Given the description of an element on the screen output the (x, y) to click on. 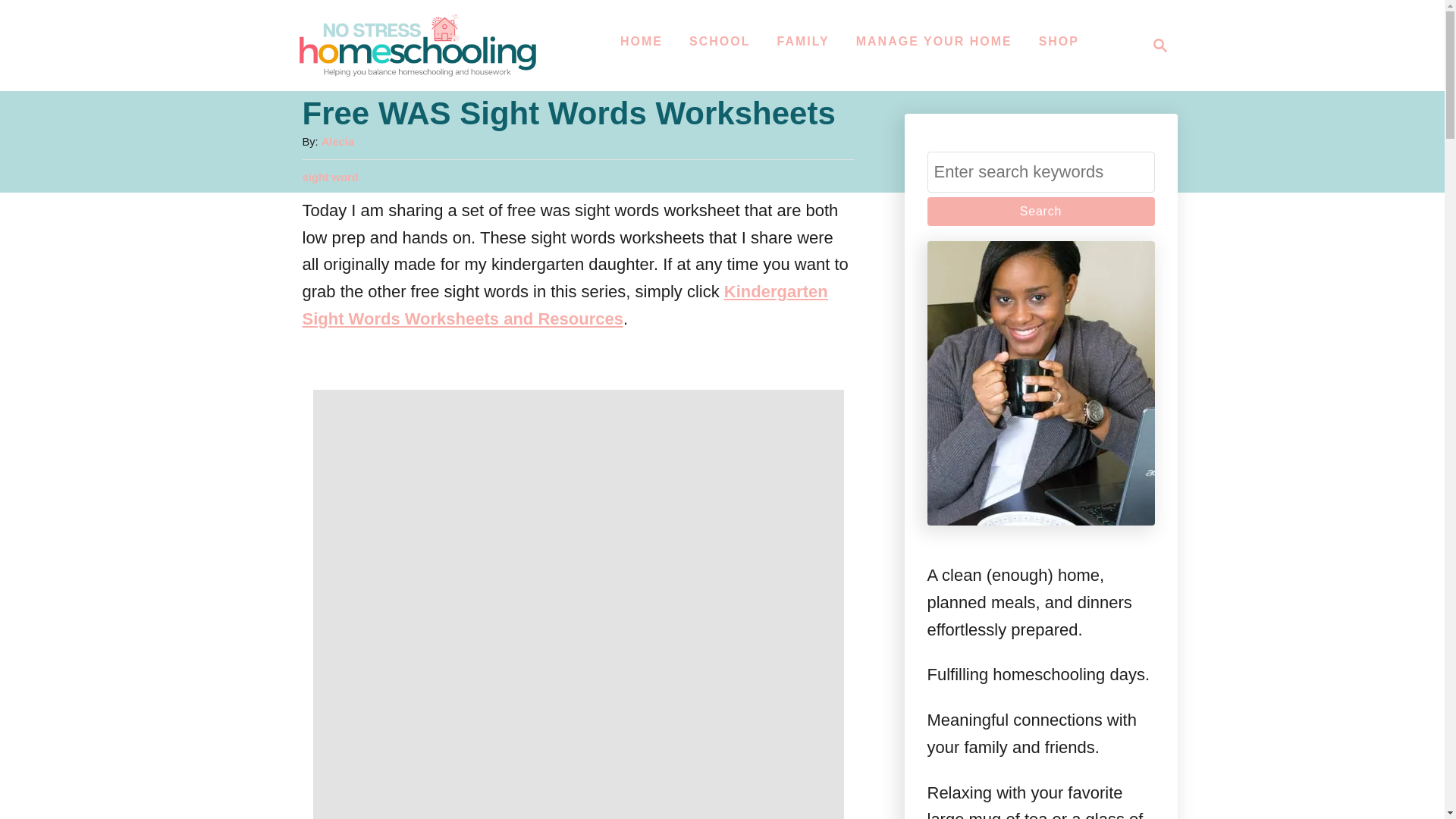
HOME (640, 41)
Search (1040, 211)
No Stress Homeschooling (1155, 45)
Magnifying Glass (416, 45)
Search (1160, 45)
SCHOOL (1040, 211)
MANAGE YOUR HOME (719, 41)
FAMILY (934, 41)
Search for: (801, 41)
